Given the description of an element on the screen output the (x, y) to click on. 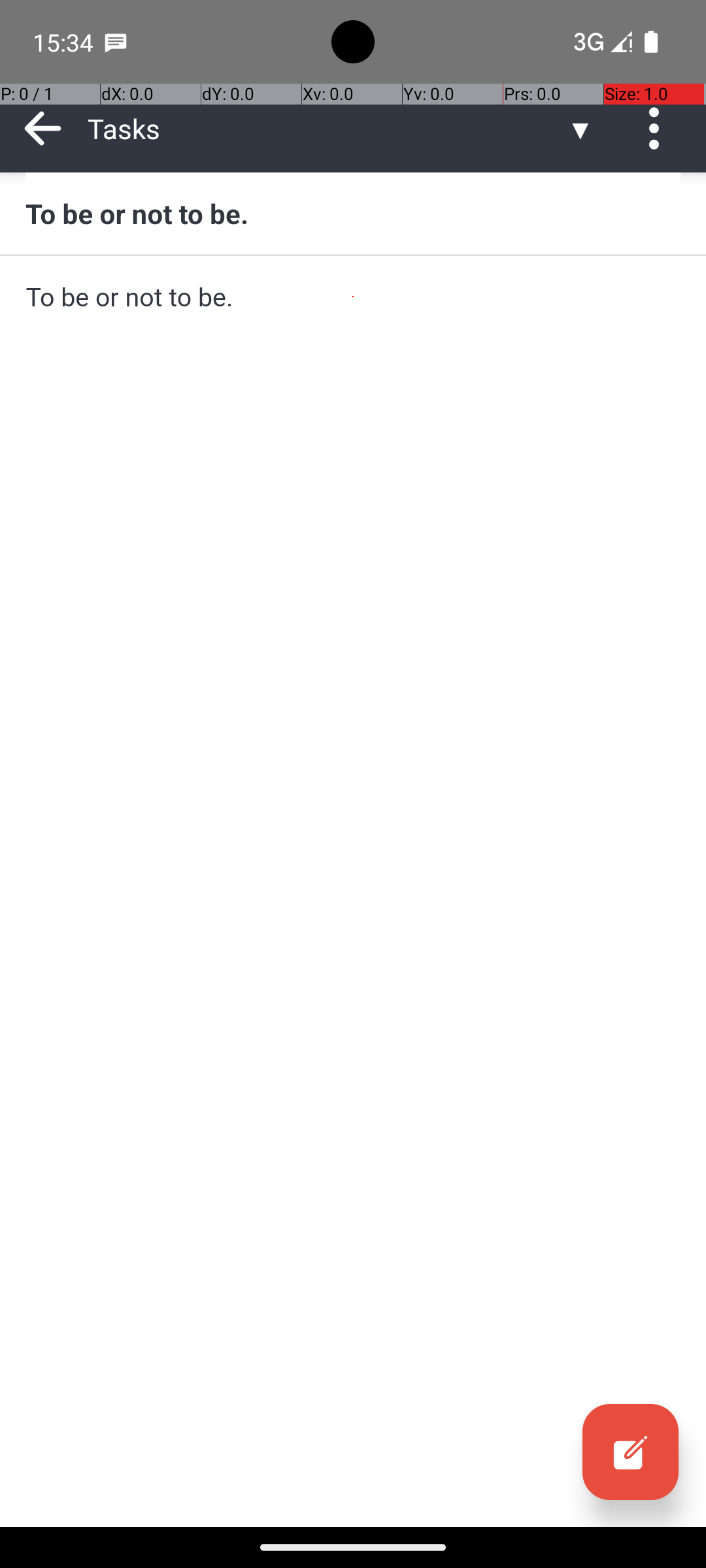
To be or not to be. Element type: android.widget.EditText (352, 213)
